Given the description of an element on the screen output the (x, y) to click on. 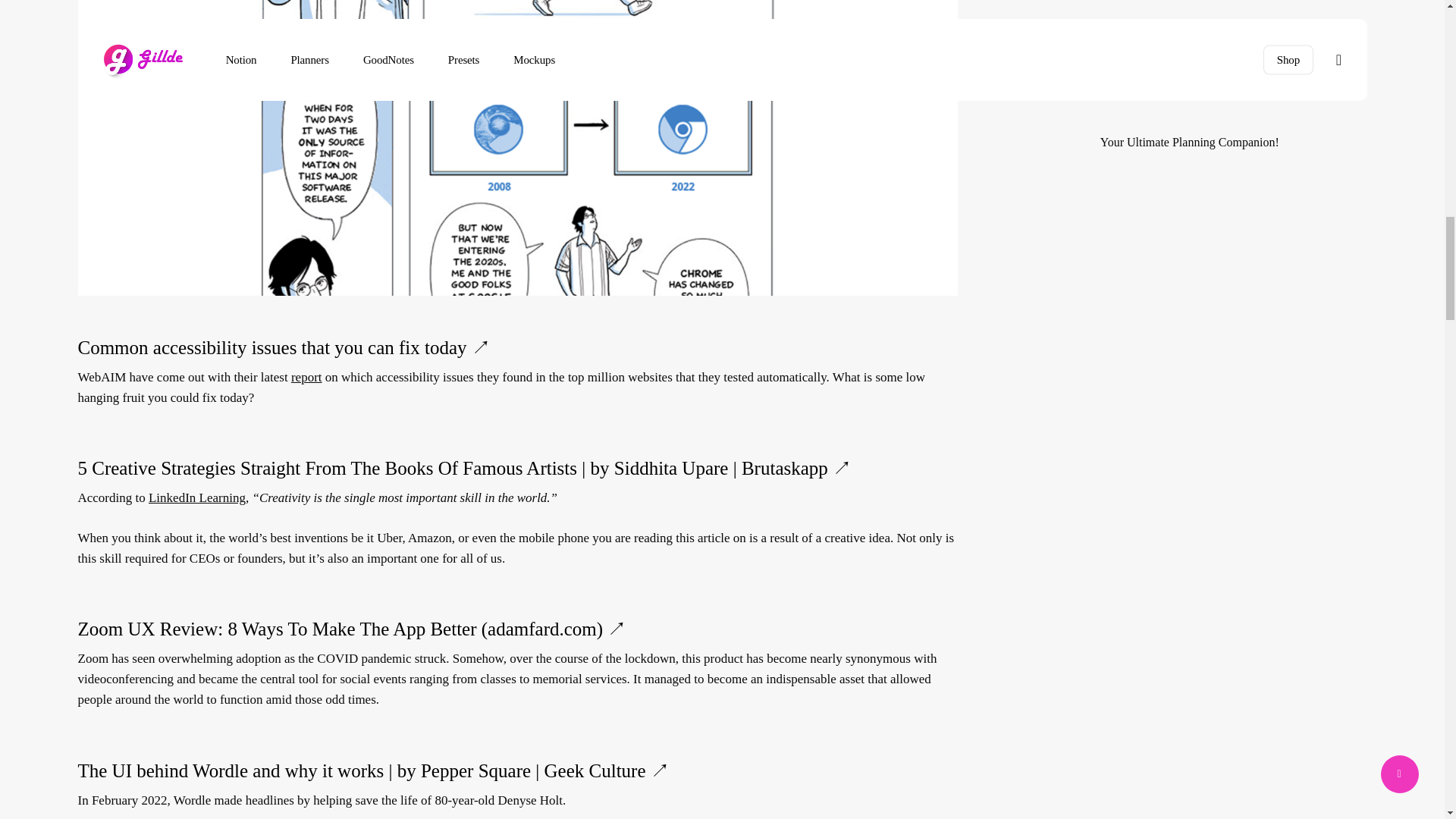
LinkedIn Learning (197, 498)
Common accessibility issues that you can fix today (271, 348)
report (306, 377)
